Given the description of an element on the screen output the (x, y) to click on. 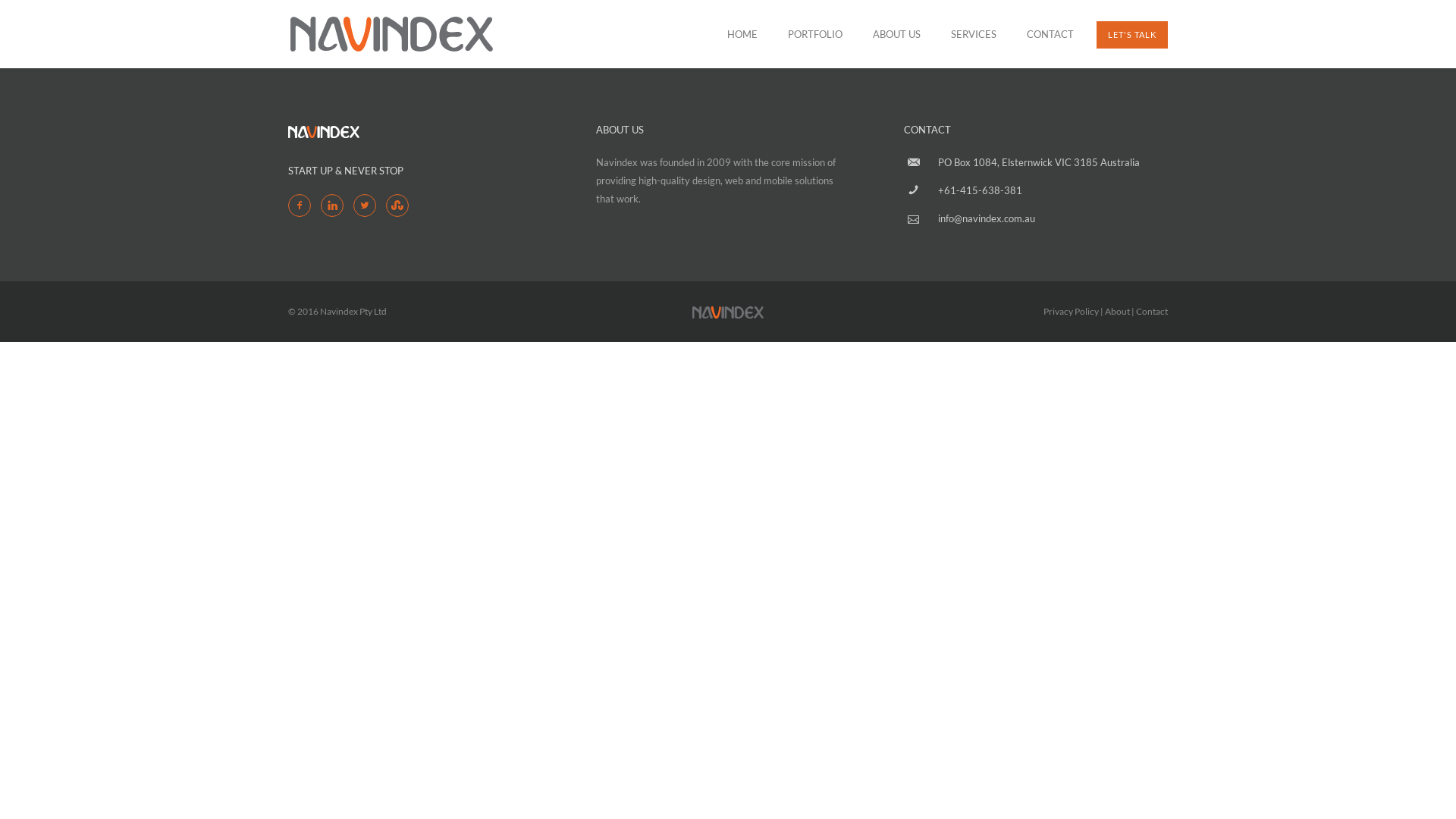
Contact Element type: text (1151, 310)
PORTFOLIO Element type: text (814, 34)
CONTACT Element type: text (1042, 34)
SERVICES Element type: text (973, 34)
About Element type: text (1116, 310)
LET'S TALK Element type: text (1131, 34)
HOME Element type: text (742, 34)
ABOUT US Element type: text (896, 34)
Privacy Policy Element type: text (1070, 310)
